Given the description of an element on the screen output the (x, y) to click on. 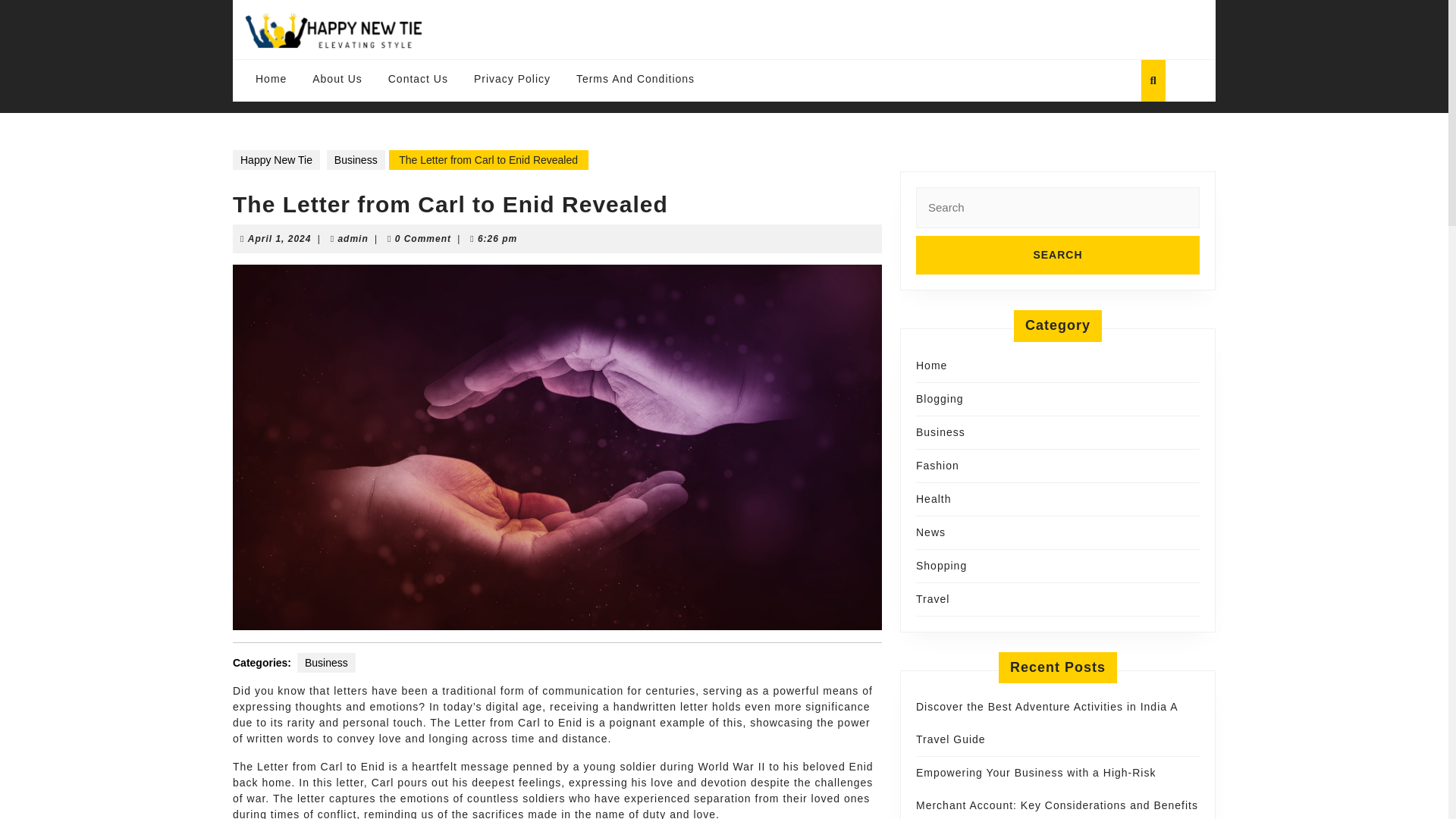
Shopping (940, 565)
Search (1057, 254)
Contact Us (418, 78)
News (929, 532)
Happy New Tie (279, 238)
Business (276, 159)
Health (326, 661)
